Given the description of an element on the screen output the (x, y) to click on. 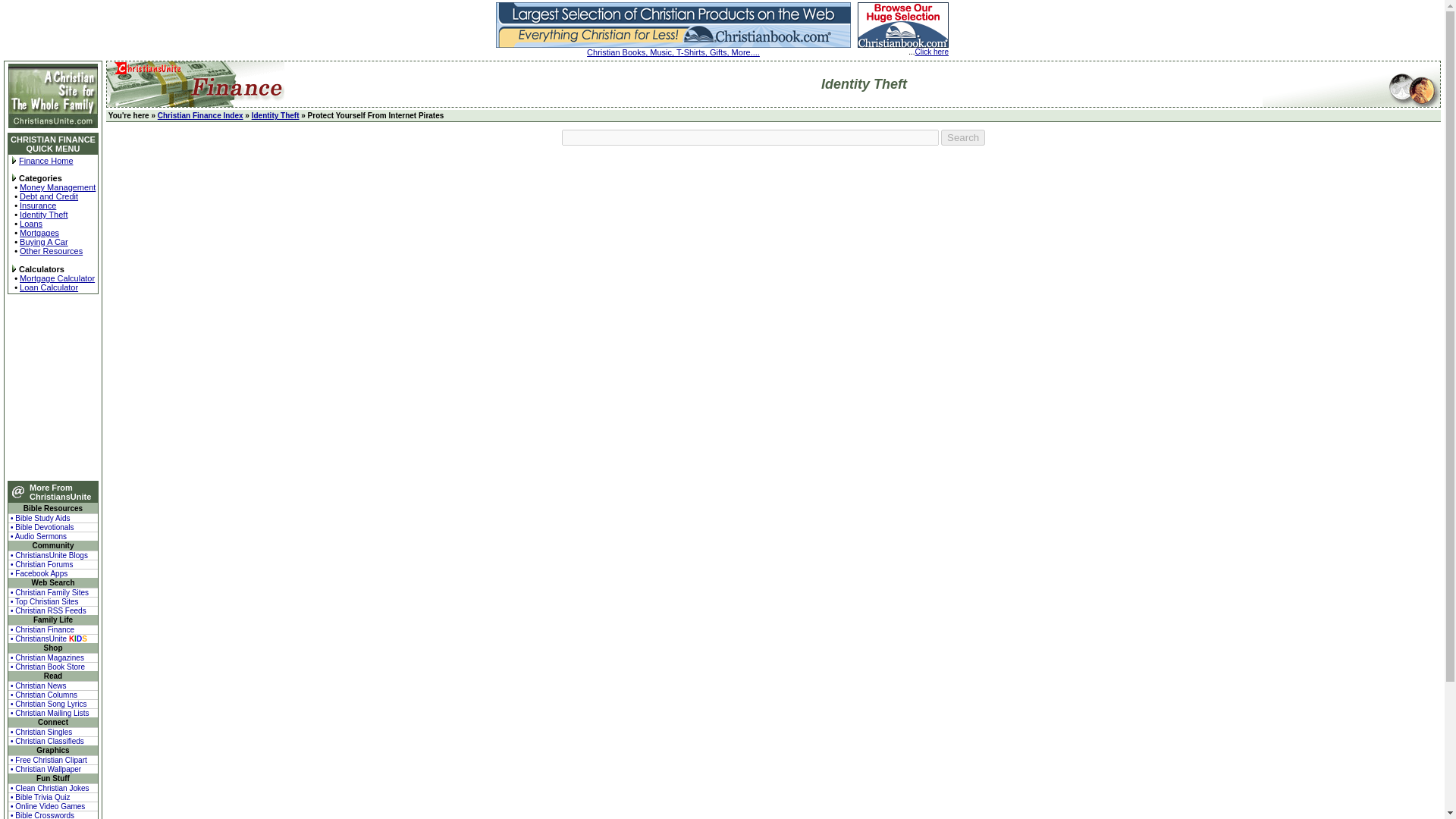
Insurance (38, 204)
Other Resources (51, 250)
Mortgage Calculator (57, 277)
Mortgages (39, 232)
Money Management (58, 186)
Click here (932, 51)
Debt and Credit (49, 195)
Buying A Car (44, 241)
Loans (31, 223)
Loan Calculator (49, 286)
